Given the description of an element on the screen output the (x, y) to click on. 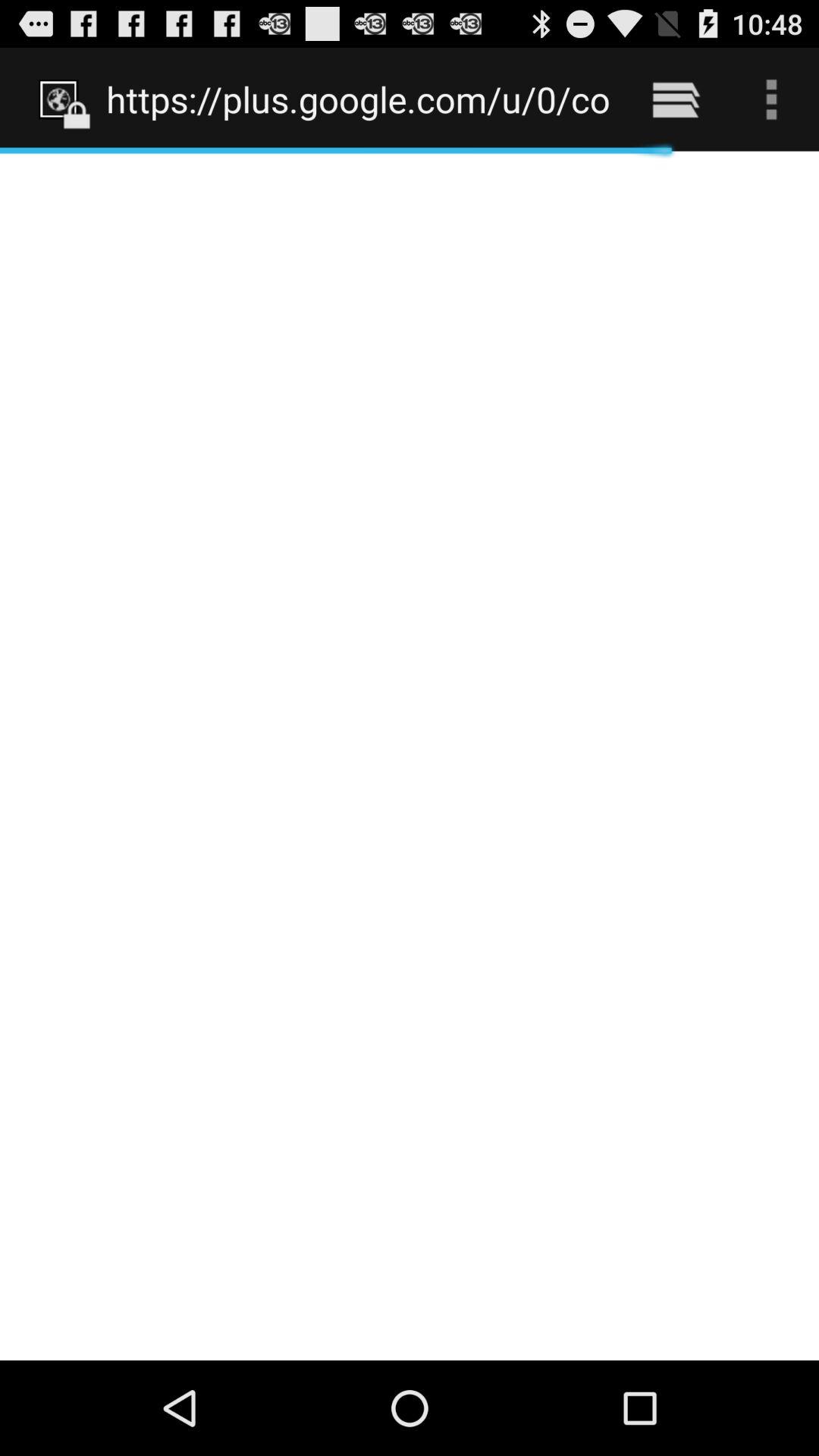
turn on the https plus google item (357, 99)
